Given the description of an element on the screen output the (x, y) to click on. 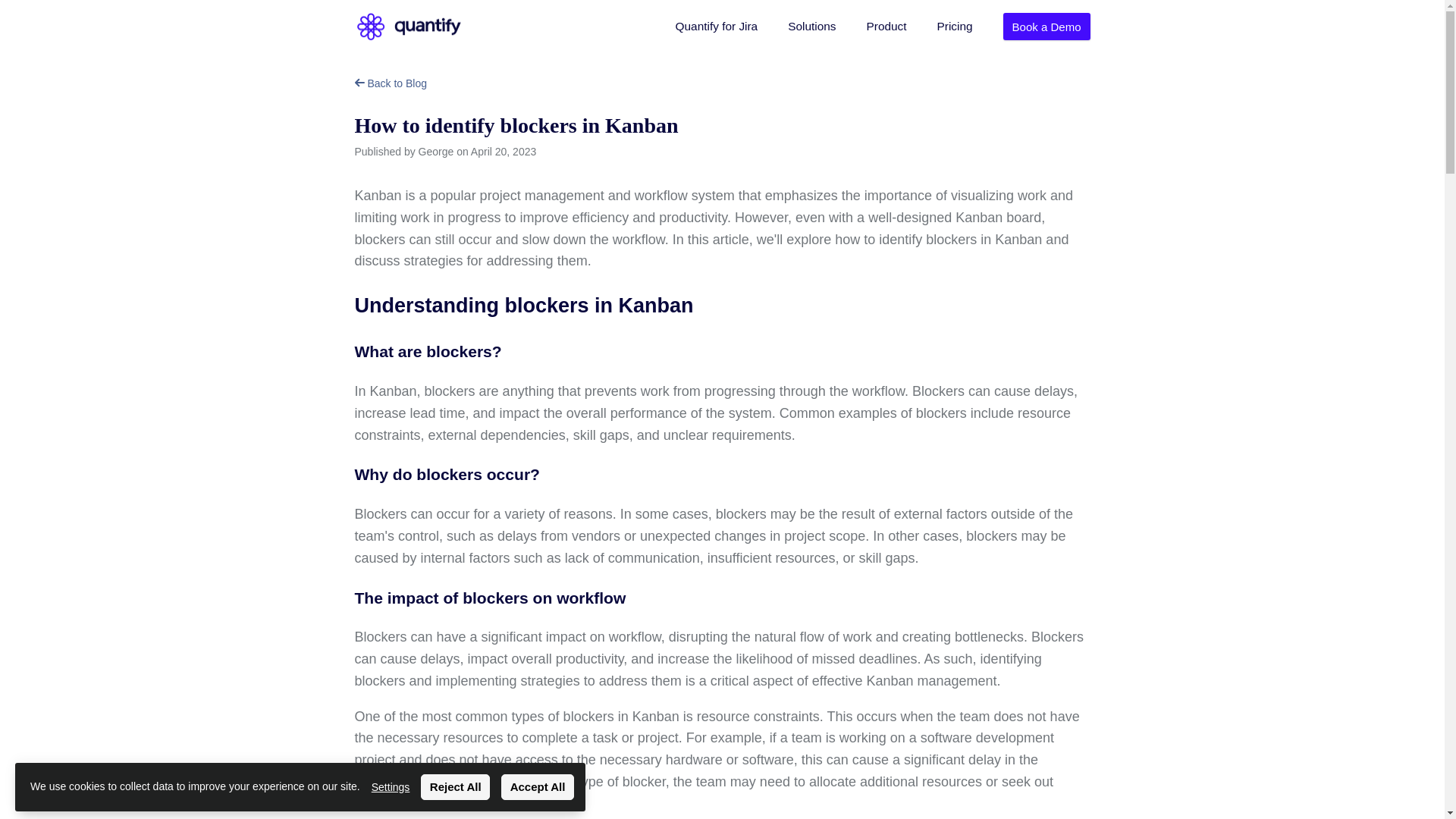
Pricing (954, 26)
Settings (390, 787)
Quantify for Jira (717, 26)
Reject All (454, 786)
Book a Demo (1046, 26)
Accept All (536, 786)
Back to Blog (391, 82)
